Given the description of an element on the screen output the (x, y) to click on. 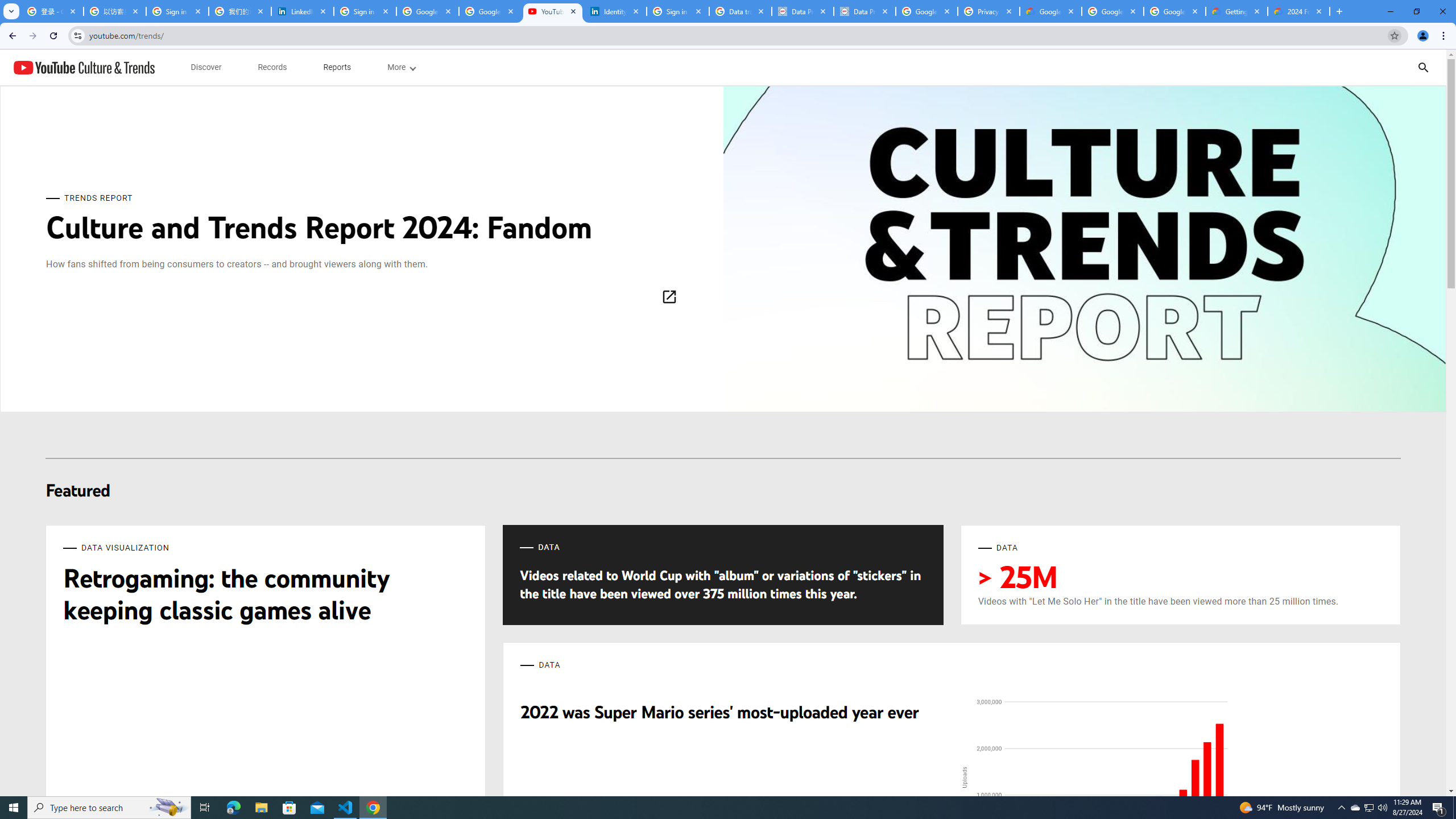
subnav-More menupopup (401, 67)
Data Privacy Framework (864, 11)
subnav-More menupopup (400, 67)
subnav-Discover menupopup (205, 67)
subnav-Discover menupopup (205, 67)
